Given the description of an element on the screen output the (x, y) to click on. 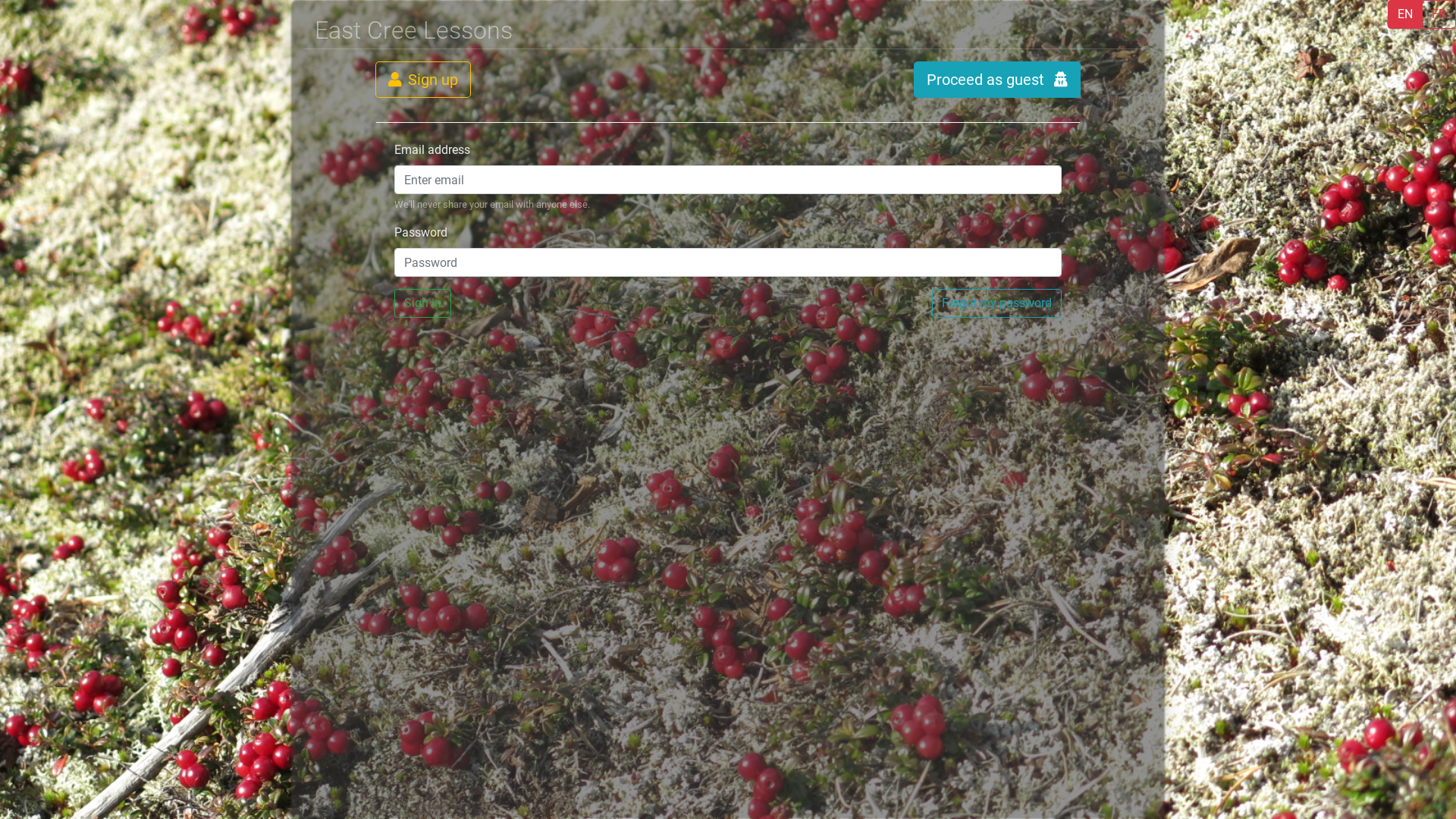
Sign up Element type: text (422, 79)
EN Element type: text (1404, 14)
Sign in Element type: text (422, 302)
Forgot my password Element type: text (996, 302)
Proceed as guest Element type: text (996, 79)
